Given the description of an element on the screen output the (x, y) to click on. 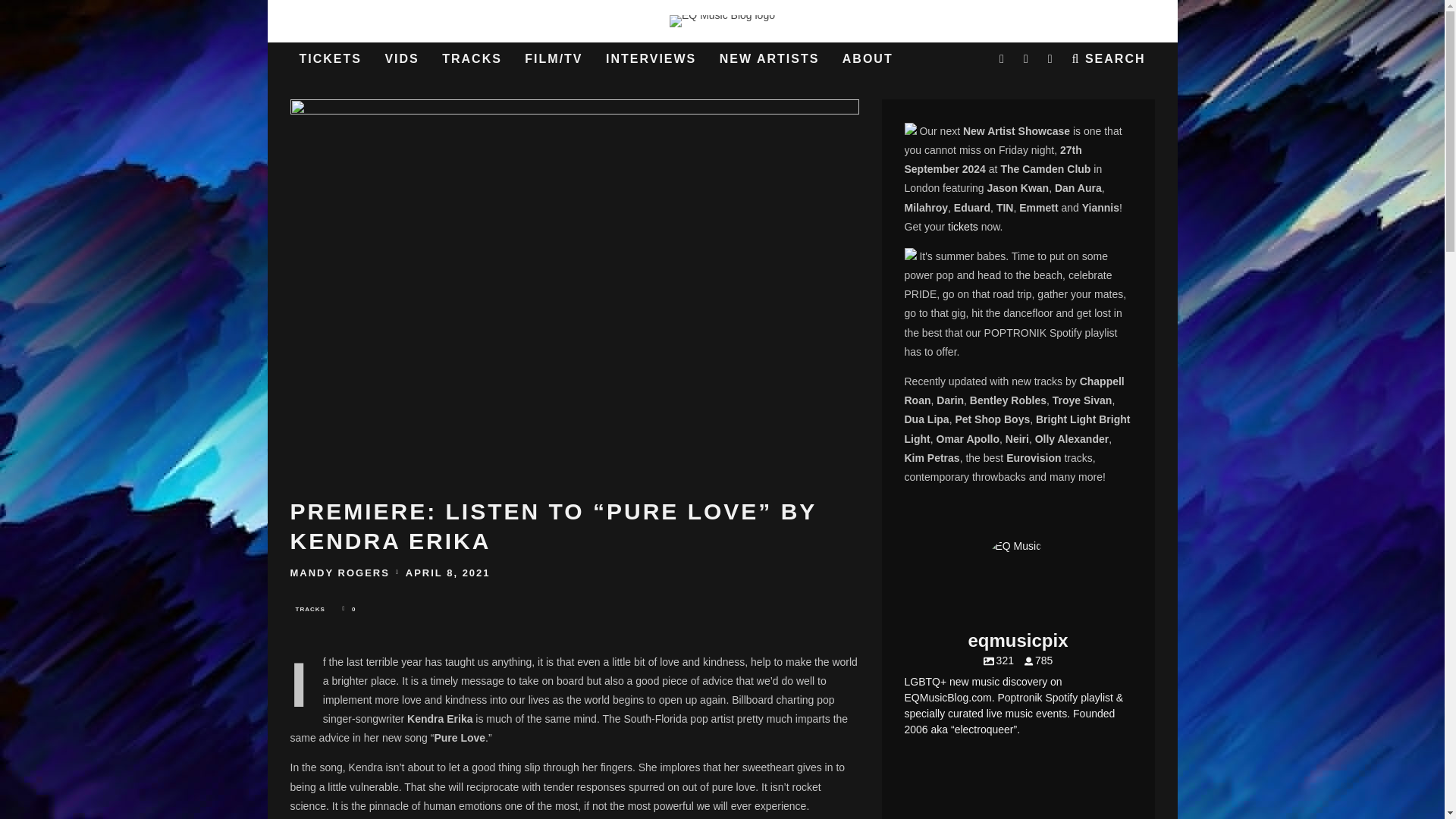
Log In (721, 409)
Music Videos (401, 59)
NEW ARTISTS (769, 59)
ABOUT (867, 59)
TRACKS (471, 59)
TRACKS (309, 609)
TICKETS (329, 59)
SEARCH (1108, 59)
VIDS (401, 59)
View all posts in Tracks (309, 609)
